Given the description of an element on the screen output the (x, y) to click on. 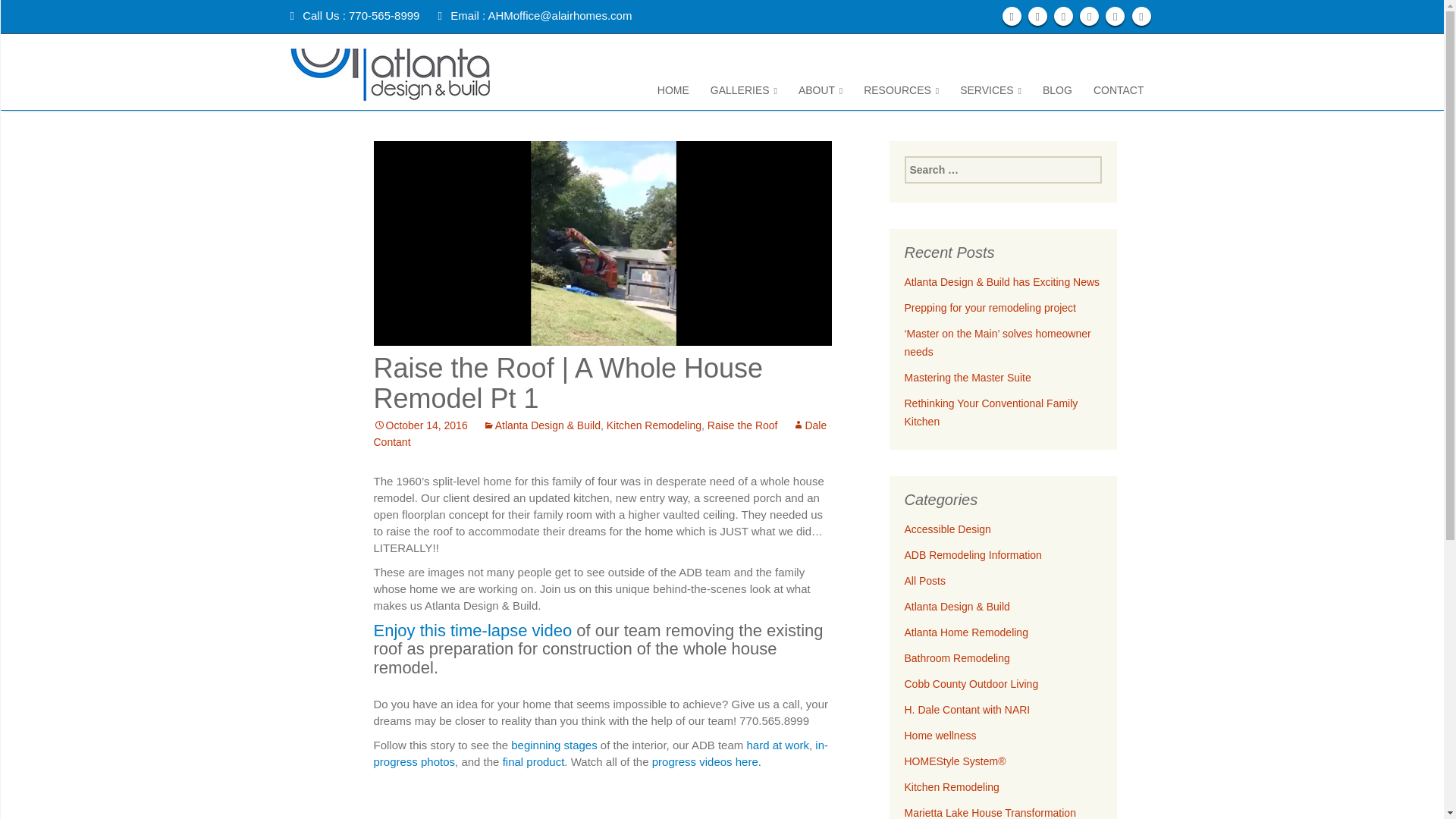
Call Us : 770-565-8999 (354, 15)
CONTACT (1118, 88)
ABOUT (820, 88)
RESOURCES (901, 88)
GALLERIES (743, 88)
View all posts by Dale Contant (599, 433)
HOME (673, 88)
BLOG (1057, 88)
SERVICES (990, 88)
